Given the description of an element on the screen output the (x, y) to click on. 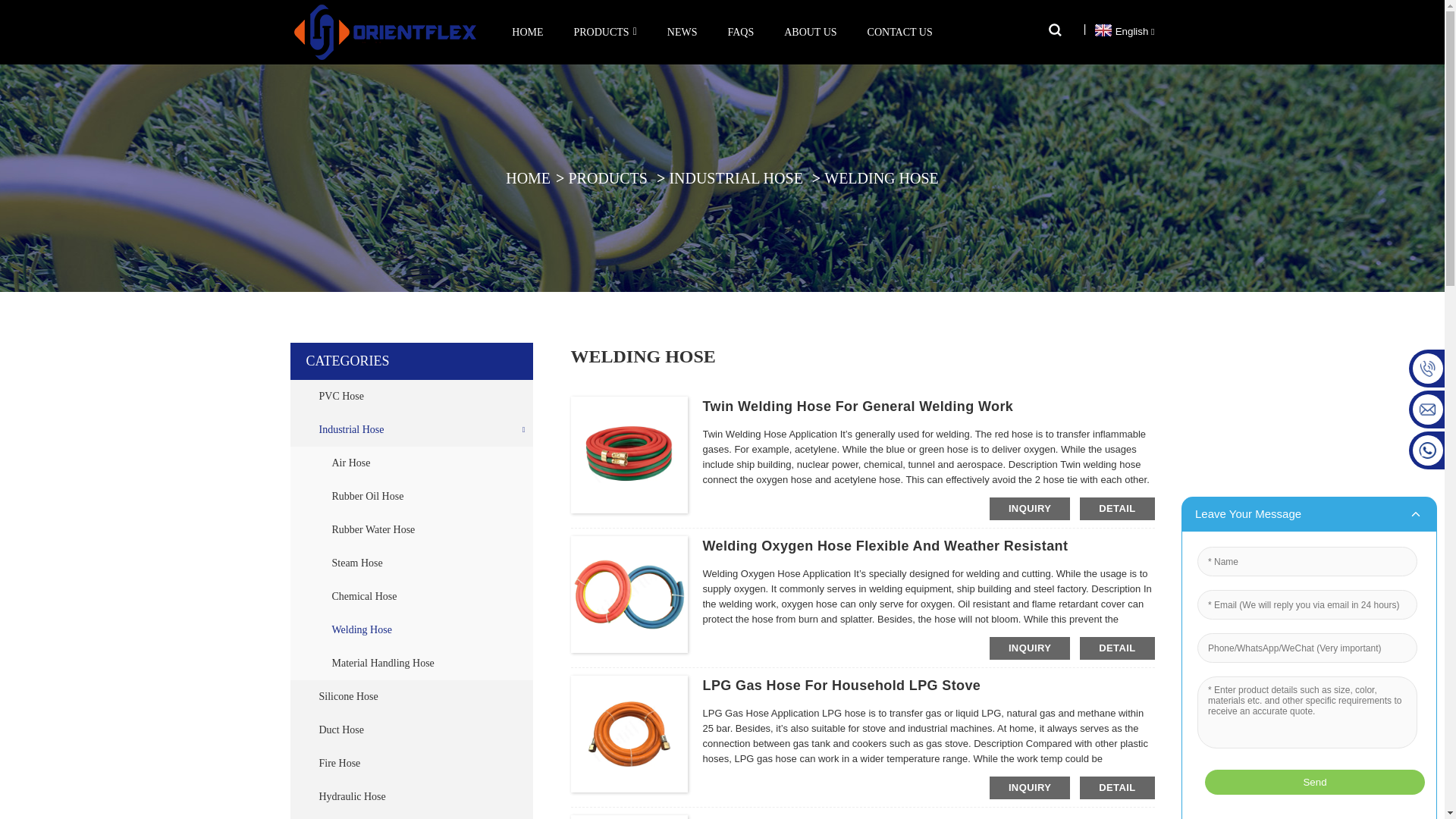
HOME (526, 31)
English (1122, 30)
FAQS (739, 31)
ABOUT US (809, 31)
CONTACT US (899, 31)
NEWS (682, 31)
PRODUCTS (603, 31)
